Given the description of an element on the screen output the (x, y) to click on. 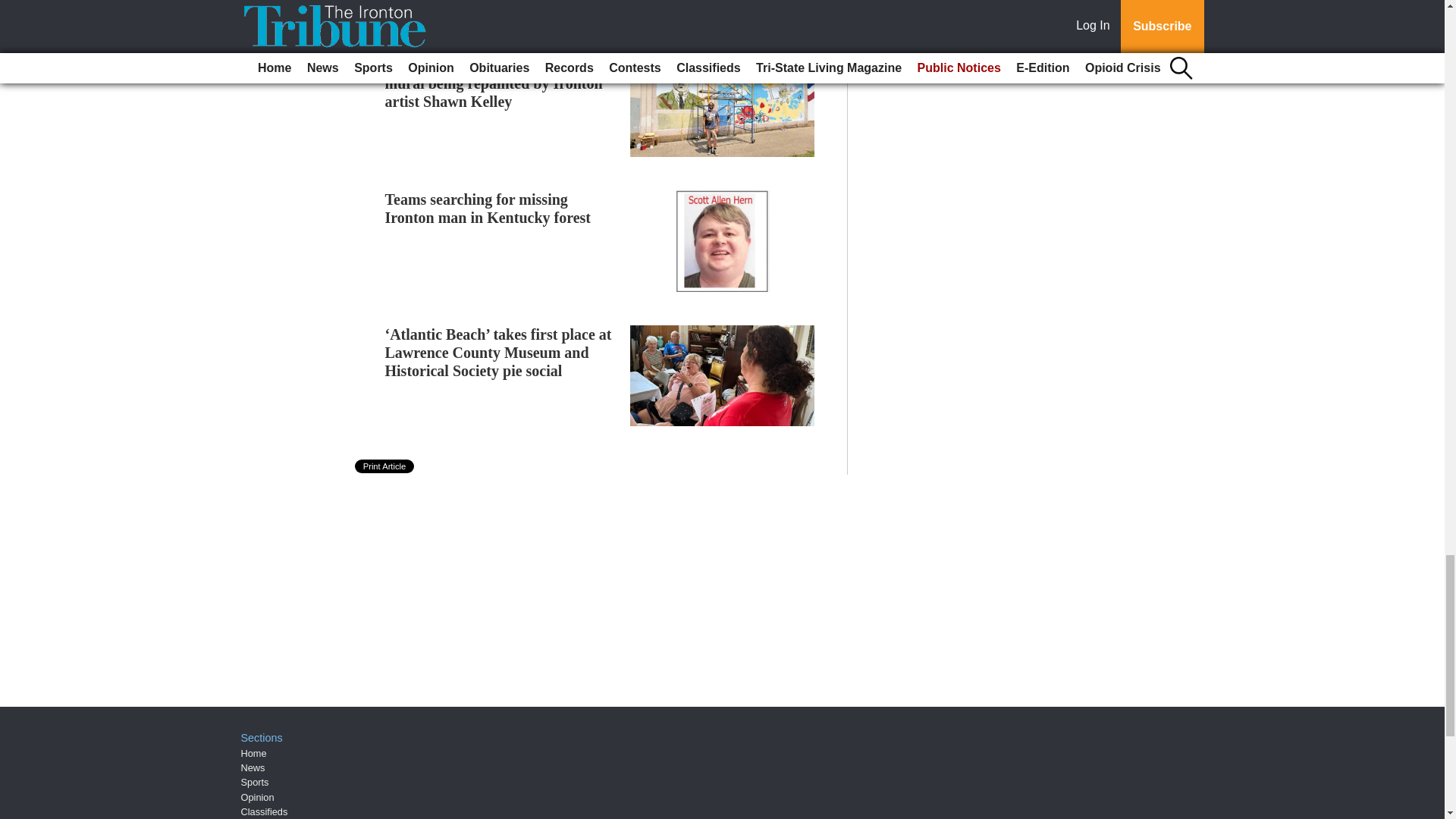
Print Article (384, 466)
Teams searching for missing Ironton man in Kentucky forest (488, 208)
Teams searching for missing Ironton man in Kentucky forest (488, 208)
Home (253, 753)
News (252, 767)
